Given the description of an element on the screen output the (x, y) to click on. 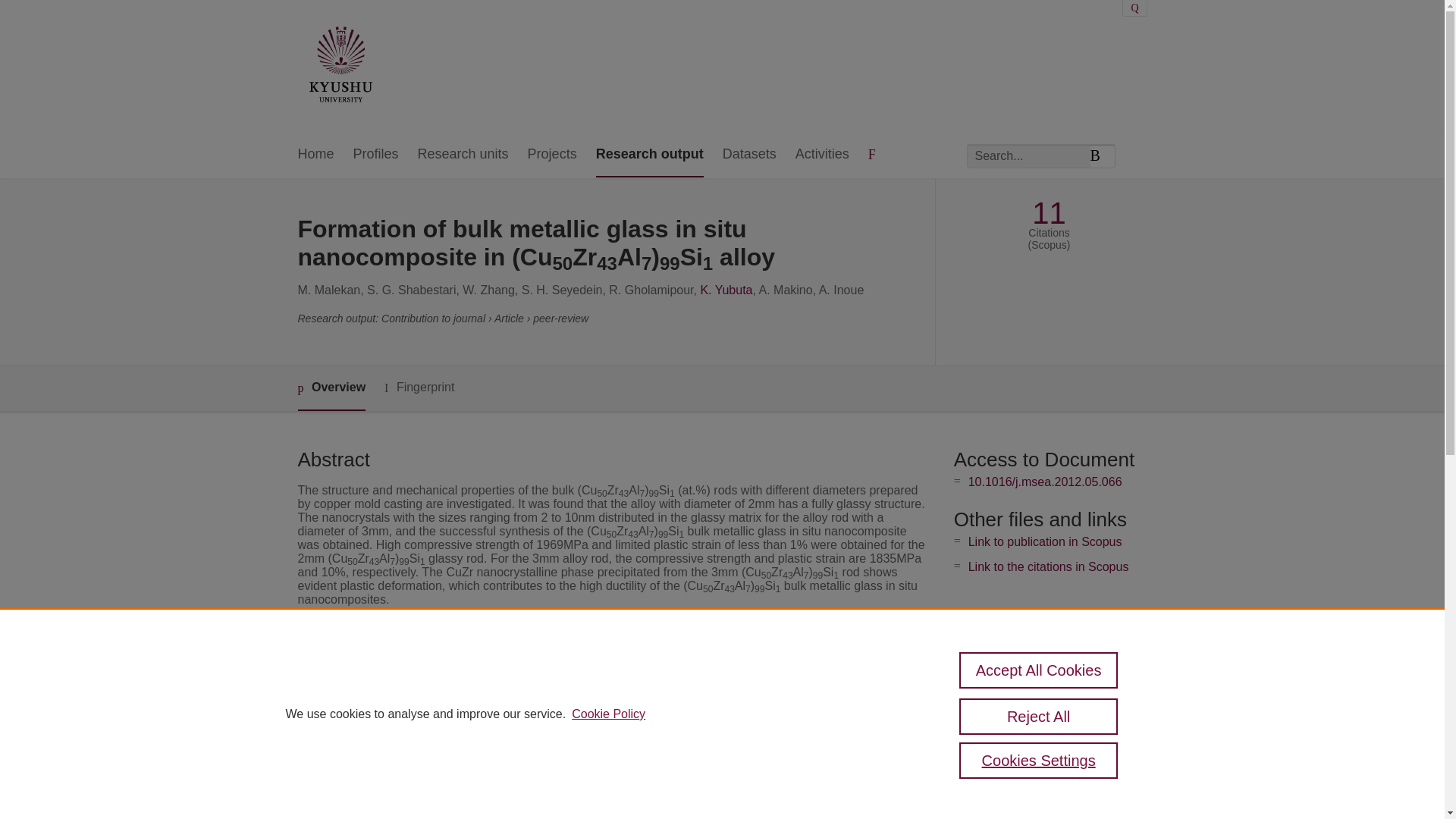
Projects (551, 154)
Link to publication in Scopus (1045, 541)
Activities (821, 154)
Research output (649, 154)
Overview (331, 388)
Materials Science and Engineering: A (608, 689)
Profiles (375, 154)
11 (1048, 212)
K. Yubuta (726, 289)
Link to the citations in Scopus (1048, 566)
Datasets (749, 154)
Research units (462, 154)
Fingerprint (419, 387)
